Given the description of an element on the screen output the (x, y) to click on. 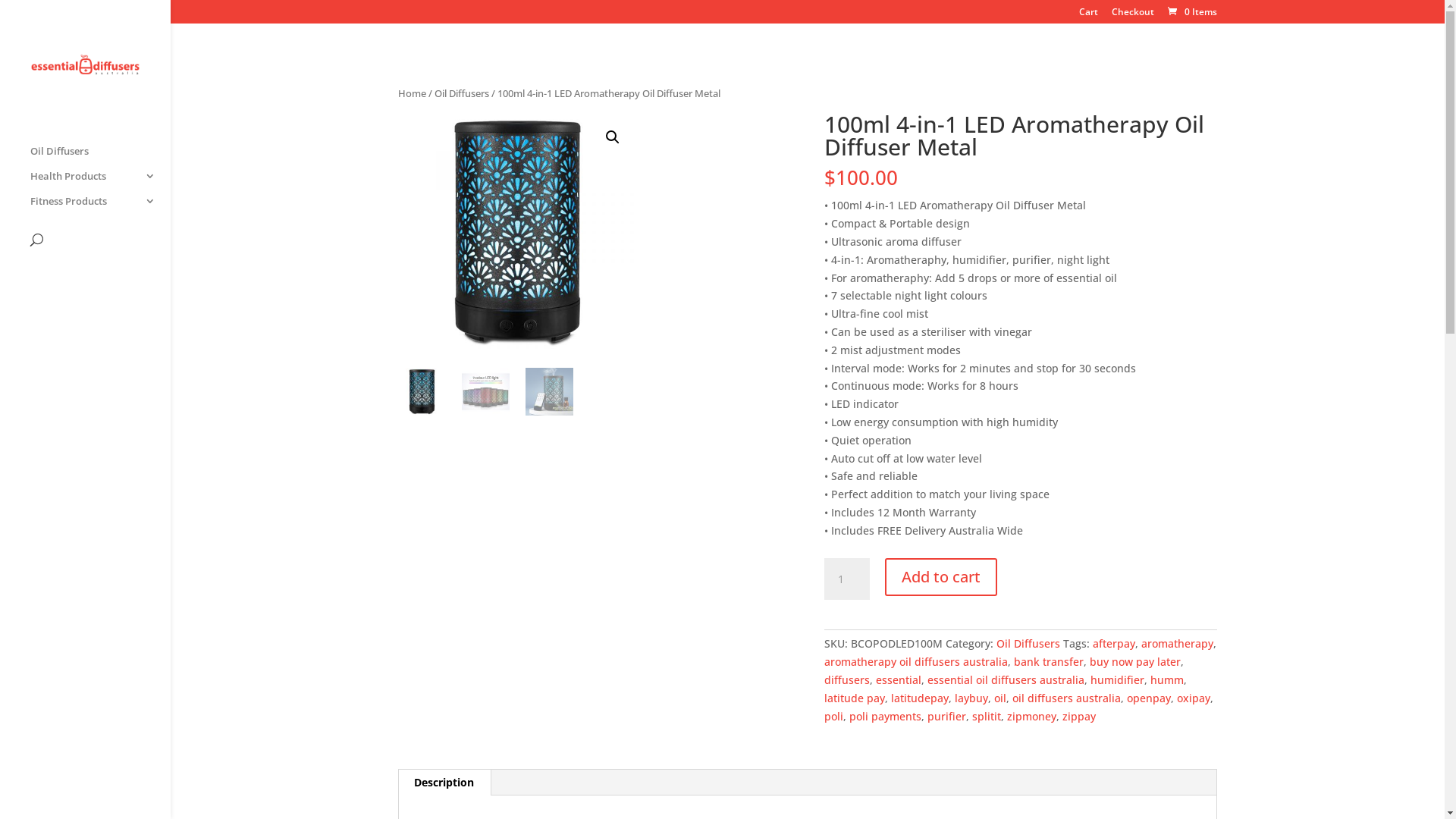
Checkout Element type: text (1132, 15)
latitude pay Element type: text (854, 697)
afterpay Element type: text (1113, 643)
oil Element type: text (1000, 697)
Health Products Element type: text (100, 182)
poli payments Element type: text (885, 716)
Oil Diffusers Element type: text (1028, 643)
poli Element type: text (833, 716)
Description Element type: text (443, 782)
Cart Element type: text (1088, 15)
humidifier Element type: text (1117, 679)
Fitness Products Element type: text (100, 207)
laybuy Element type: text (971, 697)
essential Element type: text (898, 679)
Home Element type: text (412, 93)
purifier Element type: text (946, 716)
Add to cart Element type: text (940, 577)
buy now pay later Element type: text (1134, 661)
latitudepay Element type: text (919, 697)
zipmoney Element type: text (1031, 716)
diffusers Element type: text (846, 679)
splitit Element type: text (986, 716)
100ml-4-in-1-LED-Aromatherapy-Oil-Diffuser-Metal-1.jpg Element type: hover (517, 231)
aromatherapy Element type: text (1177, 643)
humm Element type: text (1166, 679)
aromatherapy oil diffusers australia Element type: text (915, 661)
zippay Element type: text (1078, 716)
bank transfer Element type: text (1048, 661)
oil diffusers australia Element type: text (1066, 697)
essential oil diffusers australia Element type: text (1005, 679)
Oil Diffusers Element type: text (100, 157)
openpay Element type: text (1148, 697)
oxipay Element type: text (1193, 697)
0 Items Element type: text (1191, 11)
Oil Diffusers Element type: text (461, 93)
